Given the description of an element on the screen output the (x, y) to click on. 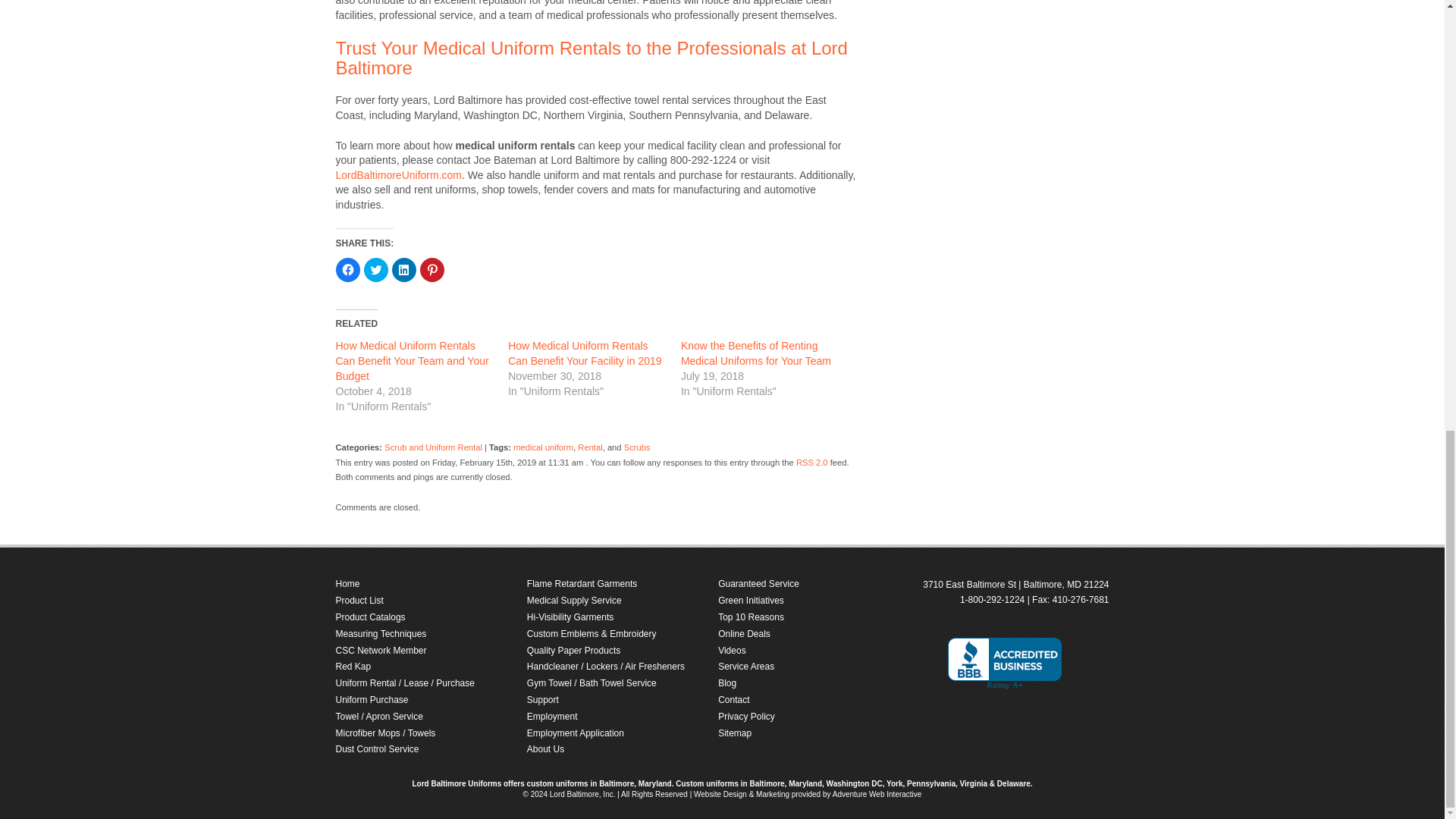
Click to share on LinkedIn (402, 269)
Know the Benefits of Renting Medical Uniforms for Your Team (756, 352)
Click to share on Pinterest (432, 269)
Click to share on Twitter (376, 269)
Click to share on Facebook (346, 269)
